Given the description of an element on the screen output the (x, y) to click on. 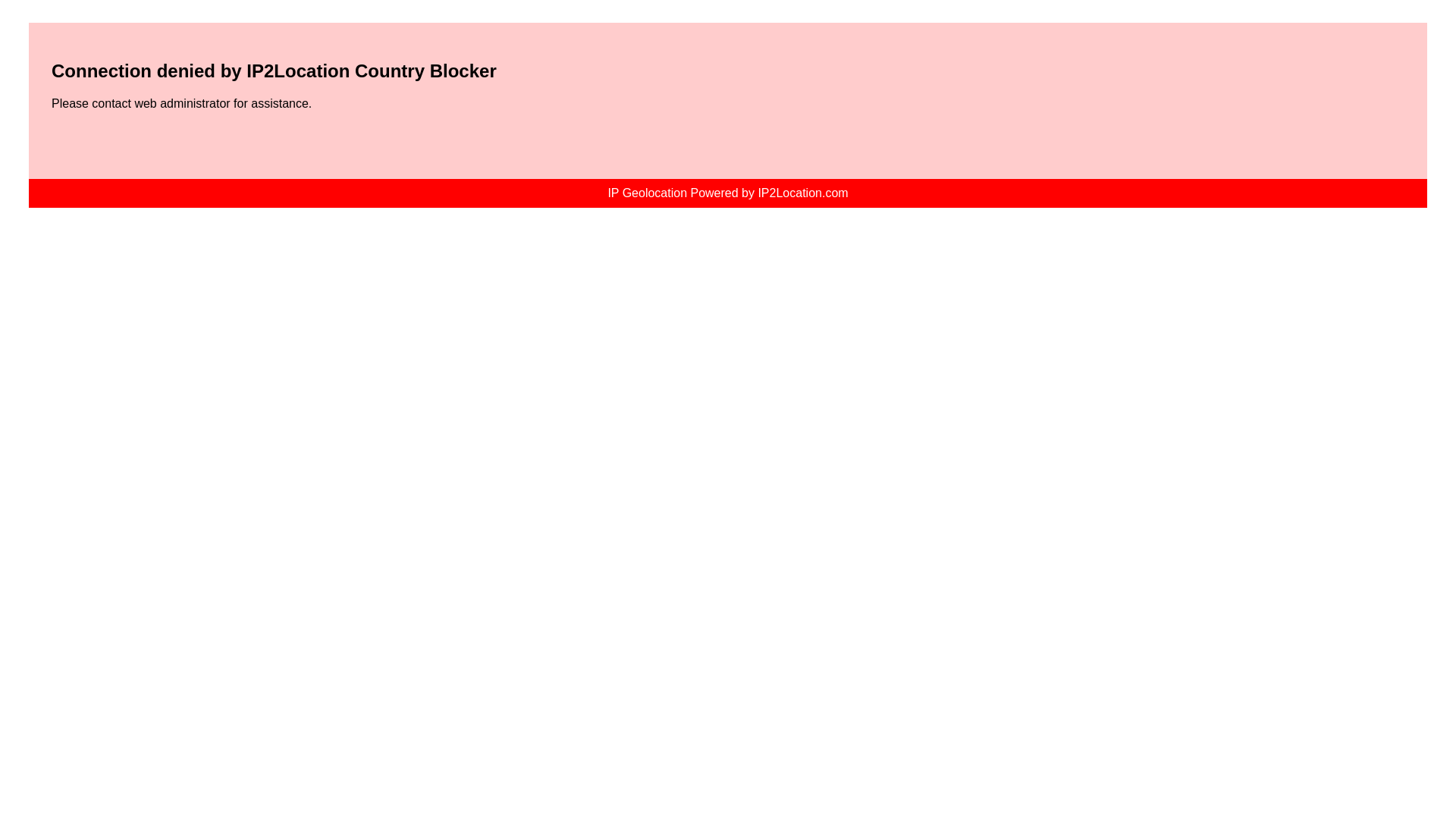
IP Geolocation Powered by IP2Location.com (727, 192)
